Given the description of an element on the screen output the (x, y) to click on. 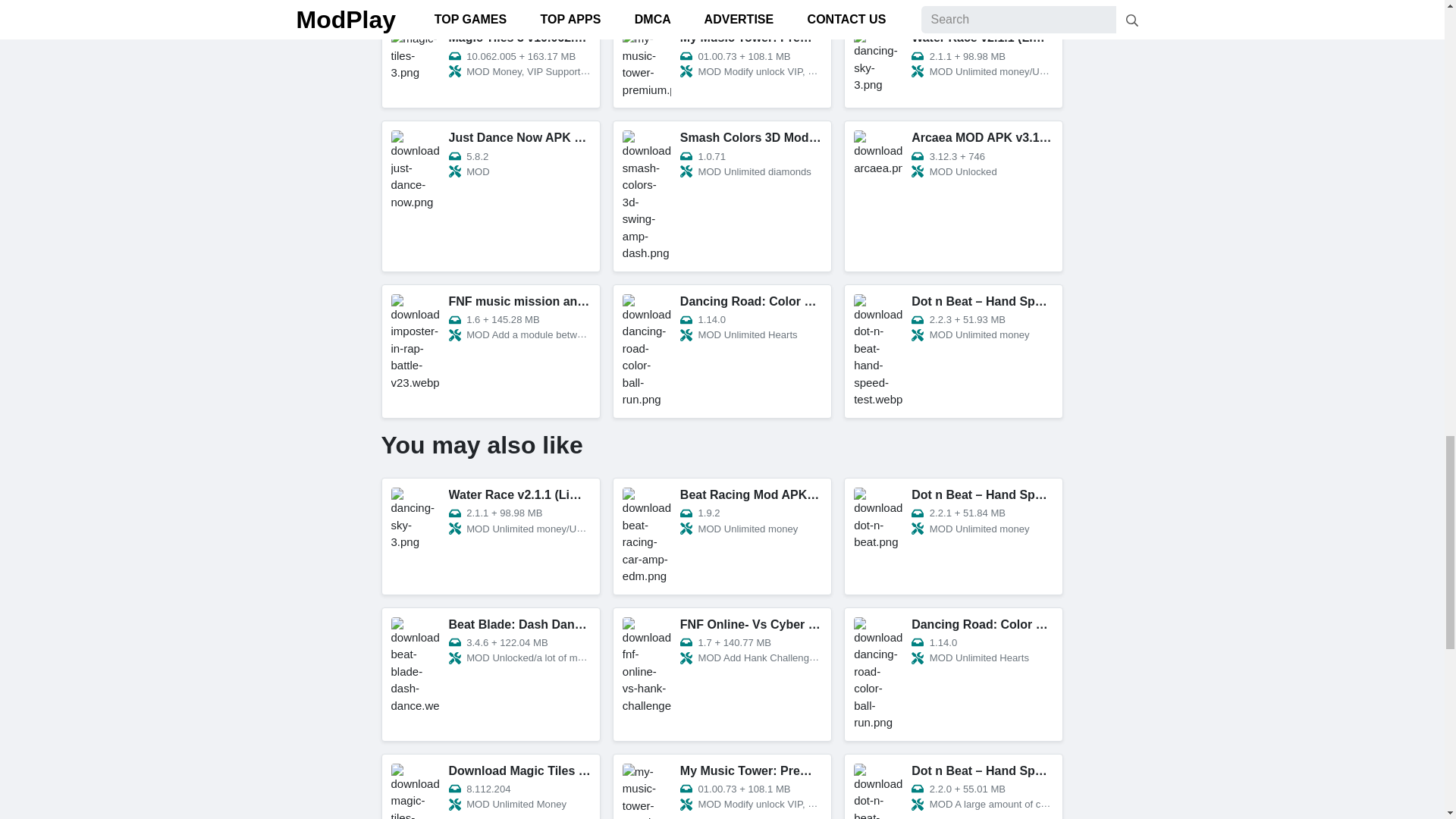
Just Dance Now APK 5.8.2 (489, 195)
magic-tiles-3.png (489, 195)
